Given the description of an element on the screen output the (x, y) to click on. 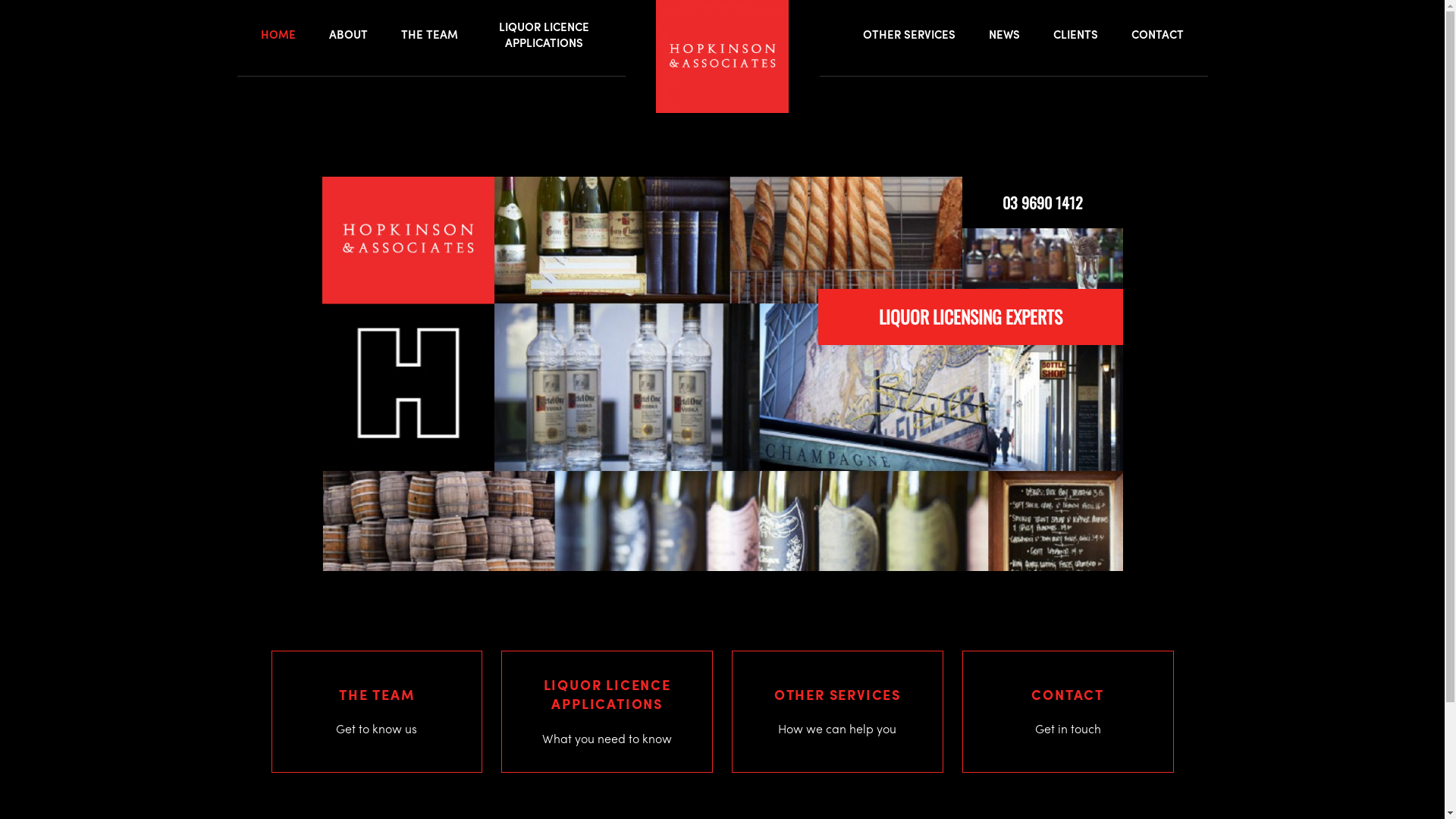
Skip to primary navigation Element type: text (0, 0)
THE TEAM Element type: text (429, 34)
CONTACT Element type: text (1157, 34)
CONTACT
Get in touch Element type: text (1067, 711)
ABOUT Element type: text (347, 34)
LIQUOR LICENCE APPLICATIONS
What you need to know Element type: text (606, 711)
OTHER SERVICES Element type: text (908, 34)
OTHER SERVICES
How we can help you Element type: text (837, 711)
THE TEAM
Get to know us Element type: text (376, 711)
HOME Element type: text (277, 34)
NEWS Element type: text (1004, 34)
CLIENTS Element type: text (1075, 34)
